Given the description of an element on the screen output the (x, y) to click on. 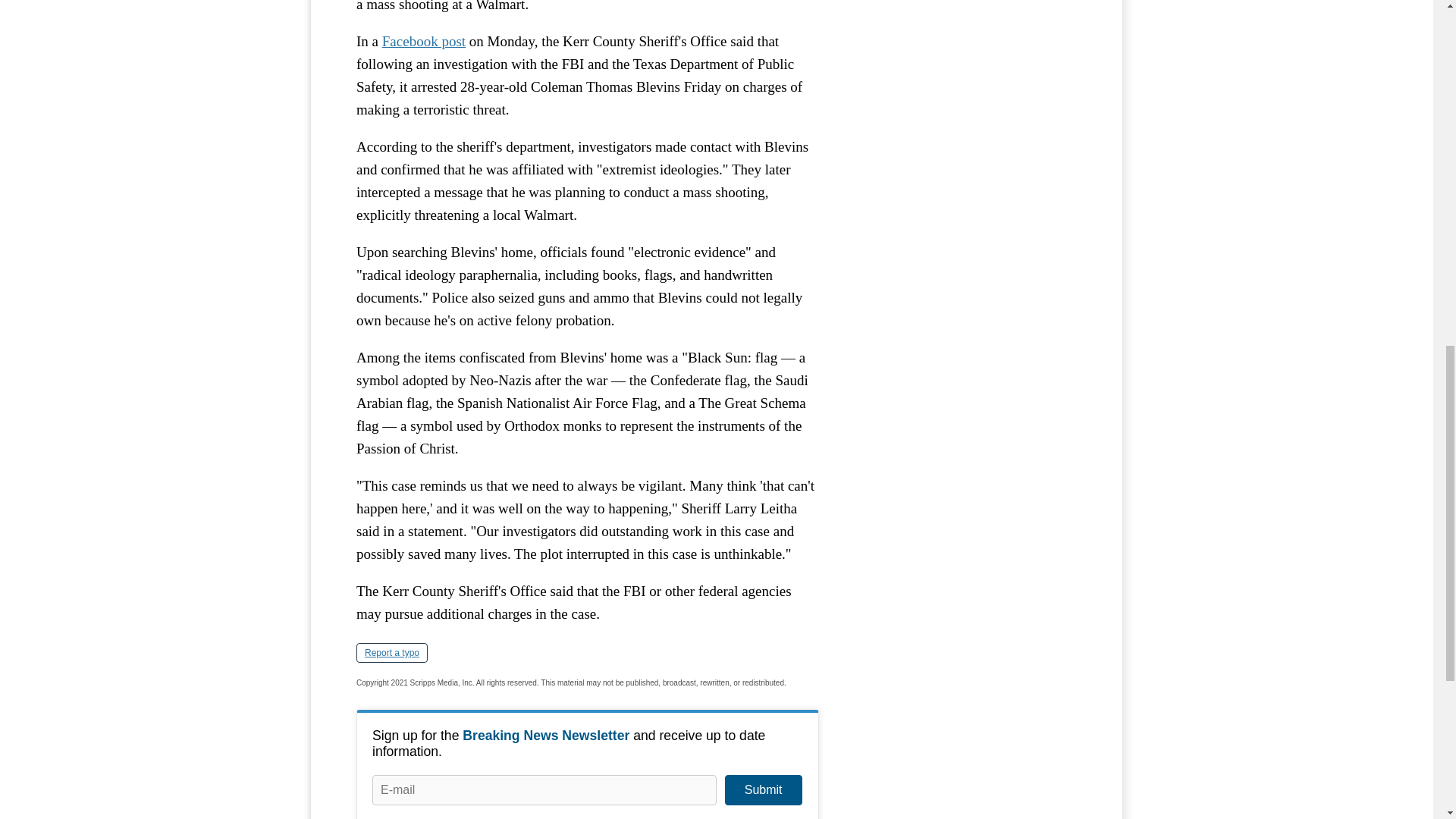
Submit (763, 789)
